Given the description of an element on the screen output the (x, y) to click on. 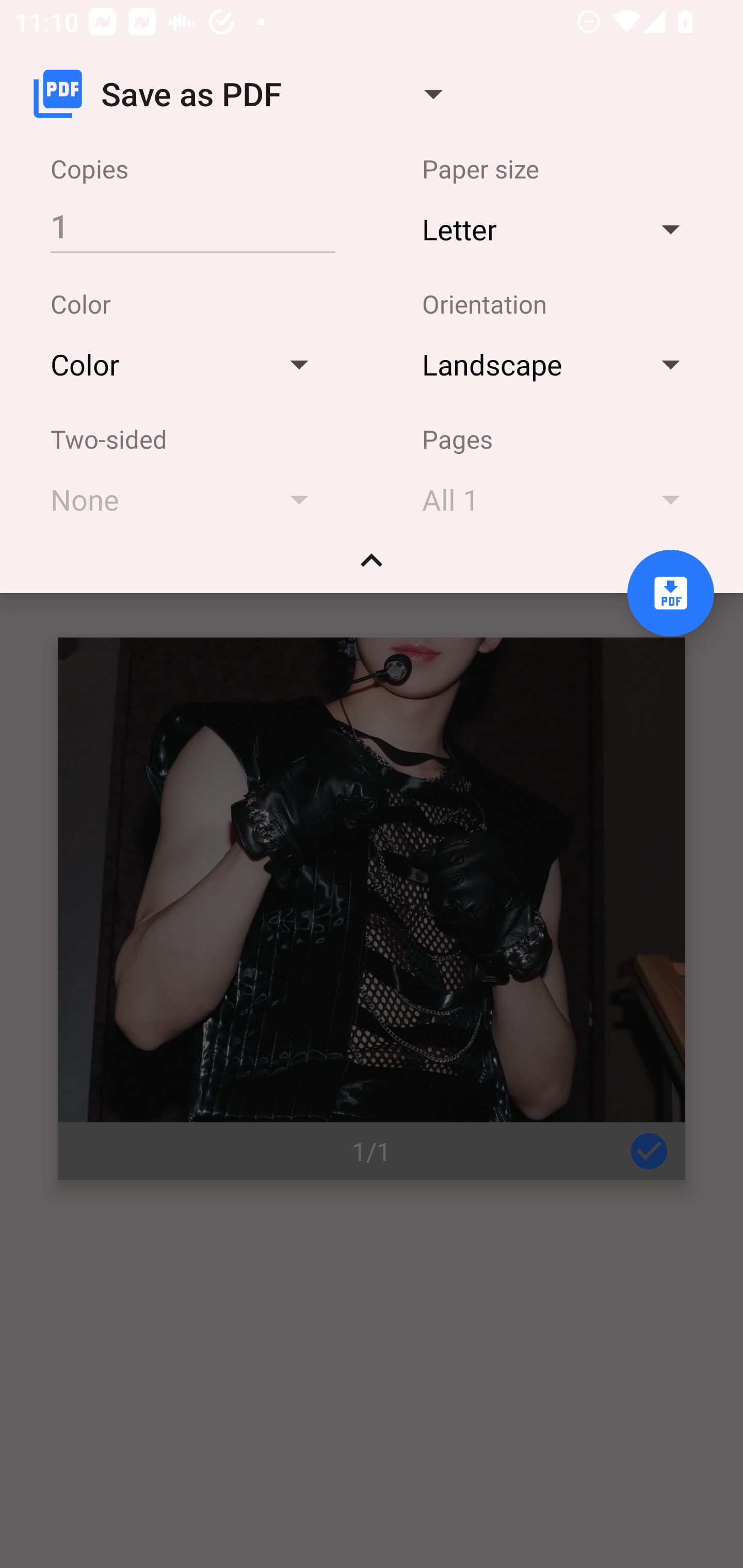
Save as PDF (245, 93)
1 (192, 225)
Letter (560, 228)
Color (189, 364)
Landscape (560, 364)
None (189, 499)
All 1 (560, 499)
Collapse handle (371, 567)
Save to PDF (670, 593)
